Given the description of an element on the screen output the (x, y) to click on. 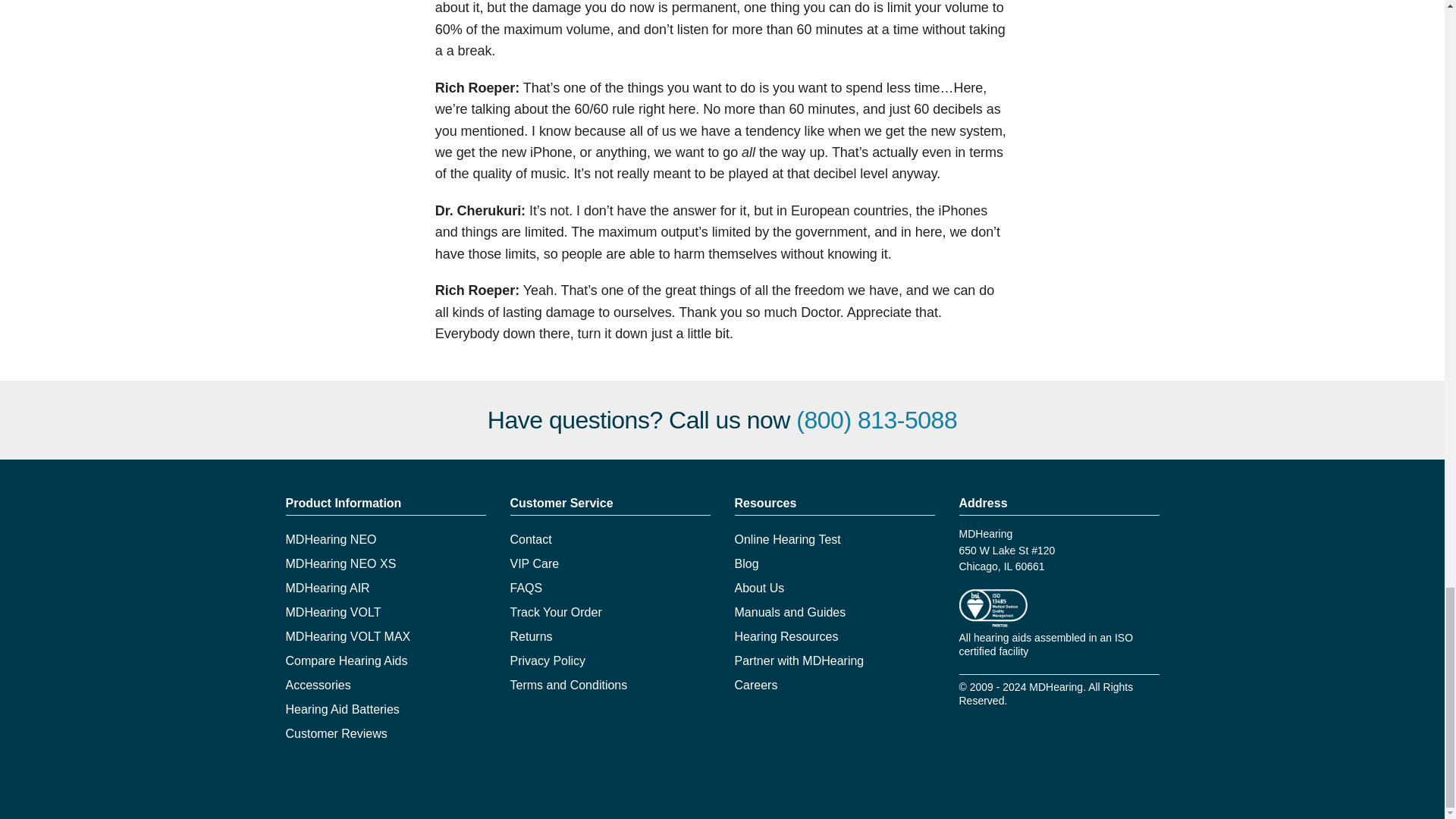
Accessories (317, 684)
MDHearing VOLT MAX (347, 635)
MDHearing NEO XS (340, 563)
MDHearing AIR (327, 587)
MDHearing VOLT (332, 612)
MDHearing NEO (330, 539)
Customer Reviews (336, 733)
Hearing Aid Batteries (341, 708)
Contact (530, 539)
Compare Hearing Aids (346, 660)
VIP Care (534, 563)
